Given the description of an element on the screen output the (x, y) to click on. 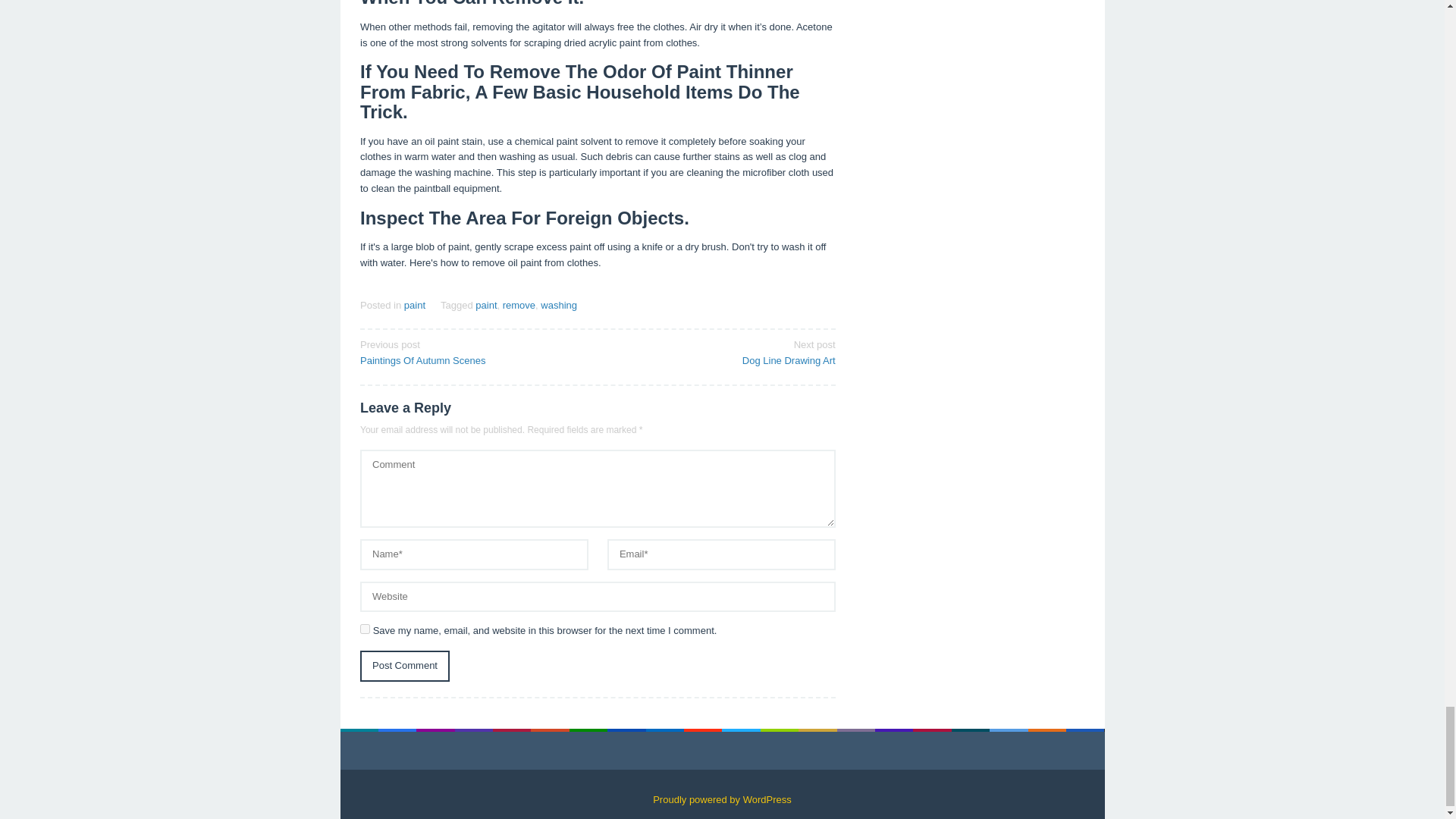
washing (558, 305)
Post Comment (404, 665)
paint (486, 305)
paint (414, 305)
remove (518, 305)
Post Comment (473, 351)
yes (404, 665)
